Given the description of an element on the screen output the (x, y) to click on. 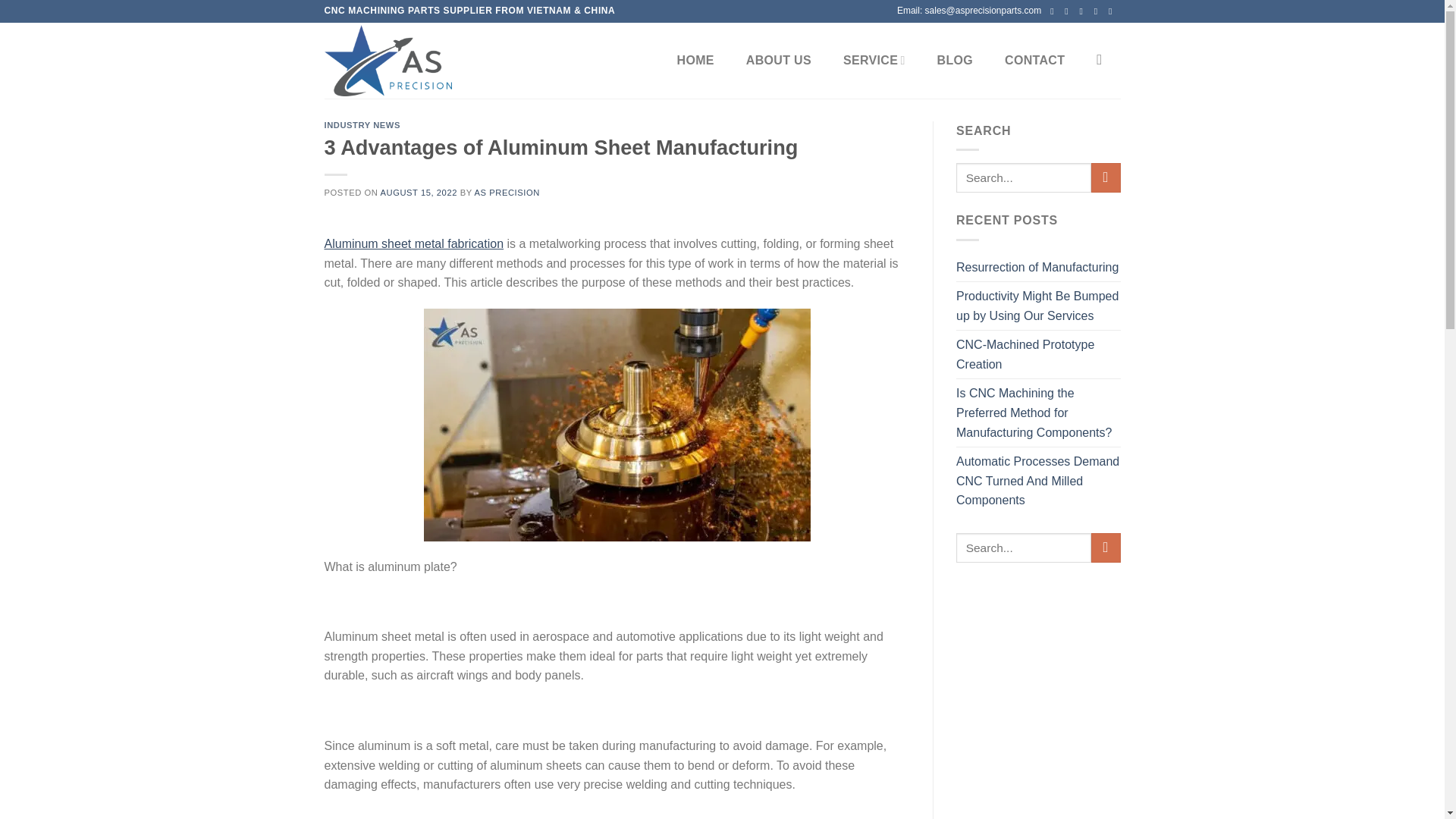
AUGUST 15, 2022 (418, 192)
Aluminum sheet metal fabrication (413, 243)
BLOG (955, 60)
AS PRECISION - CNC Machining Parts and Service Supplier (400, 60)
AS PRECISION (507, 192)
HOME (695, 60)
CONTACT (1034, 60)
INDUSTRY NEWS (362, 124)
ABOUT US (778, 60)
